Given the description of an element on the screen output the (x, y) to click on. 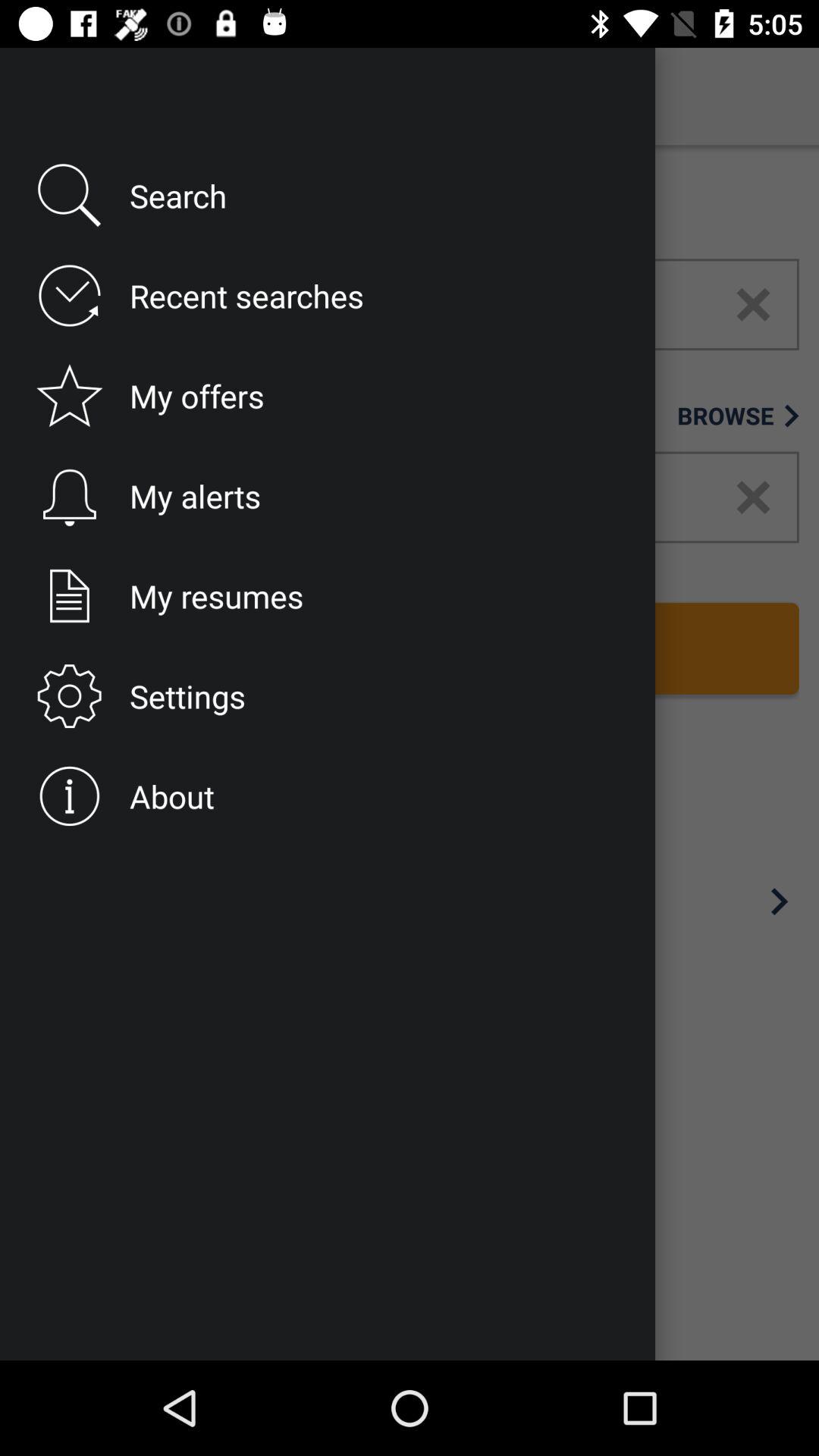
click on the icon beside my alerts (65, 497)
